Given the description of an element on the screen output the (x, y) to click on. 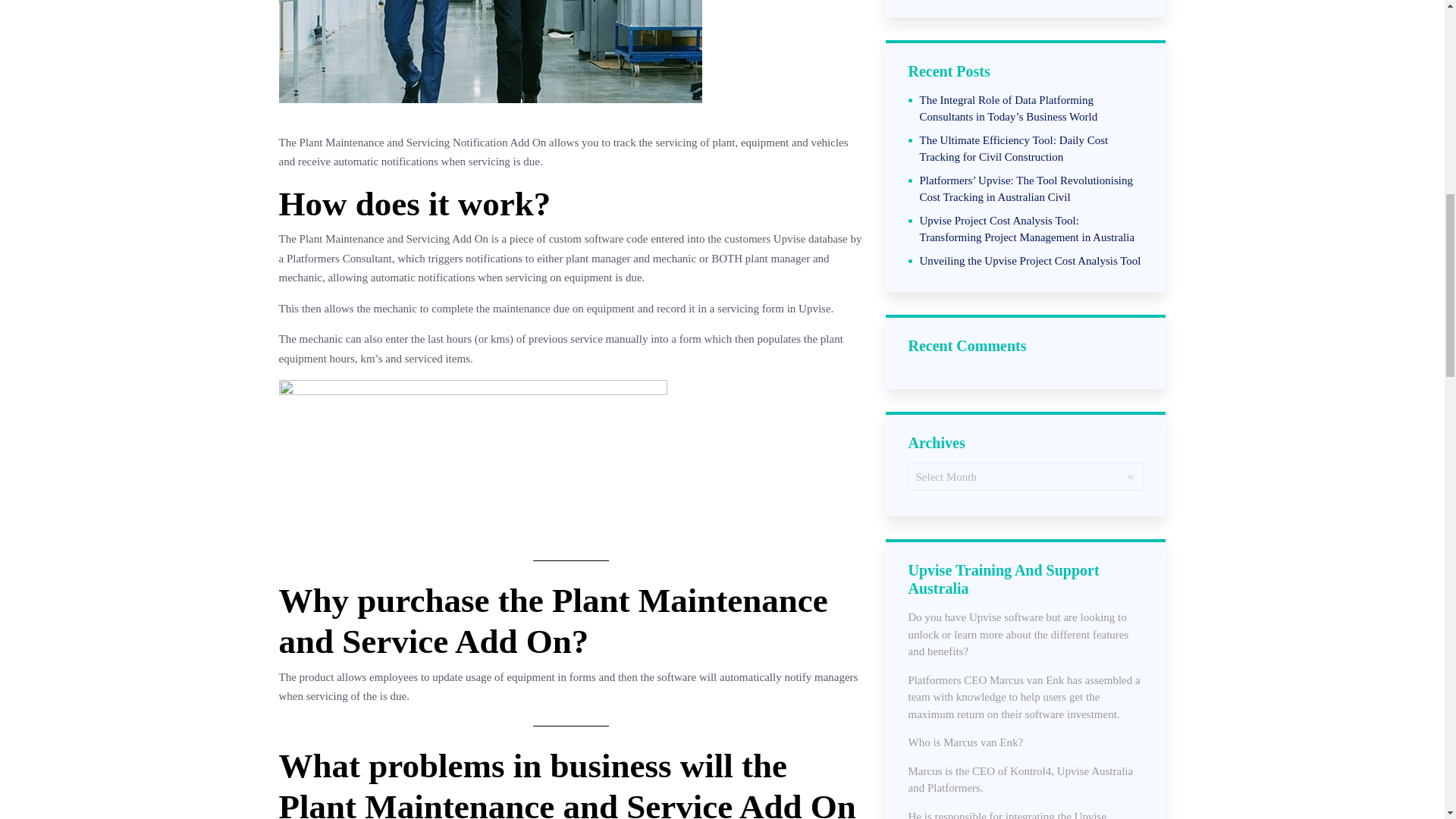
Unveiling the Upvise Project Cost Analysis Tool (1029, 260)
